Given the description of an element on the screen output the (x, y) to click on. 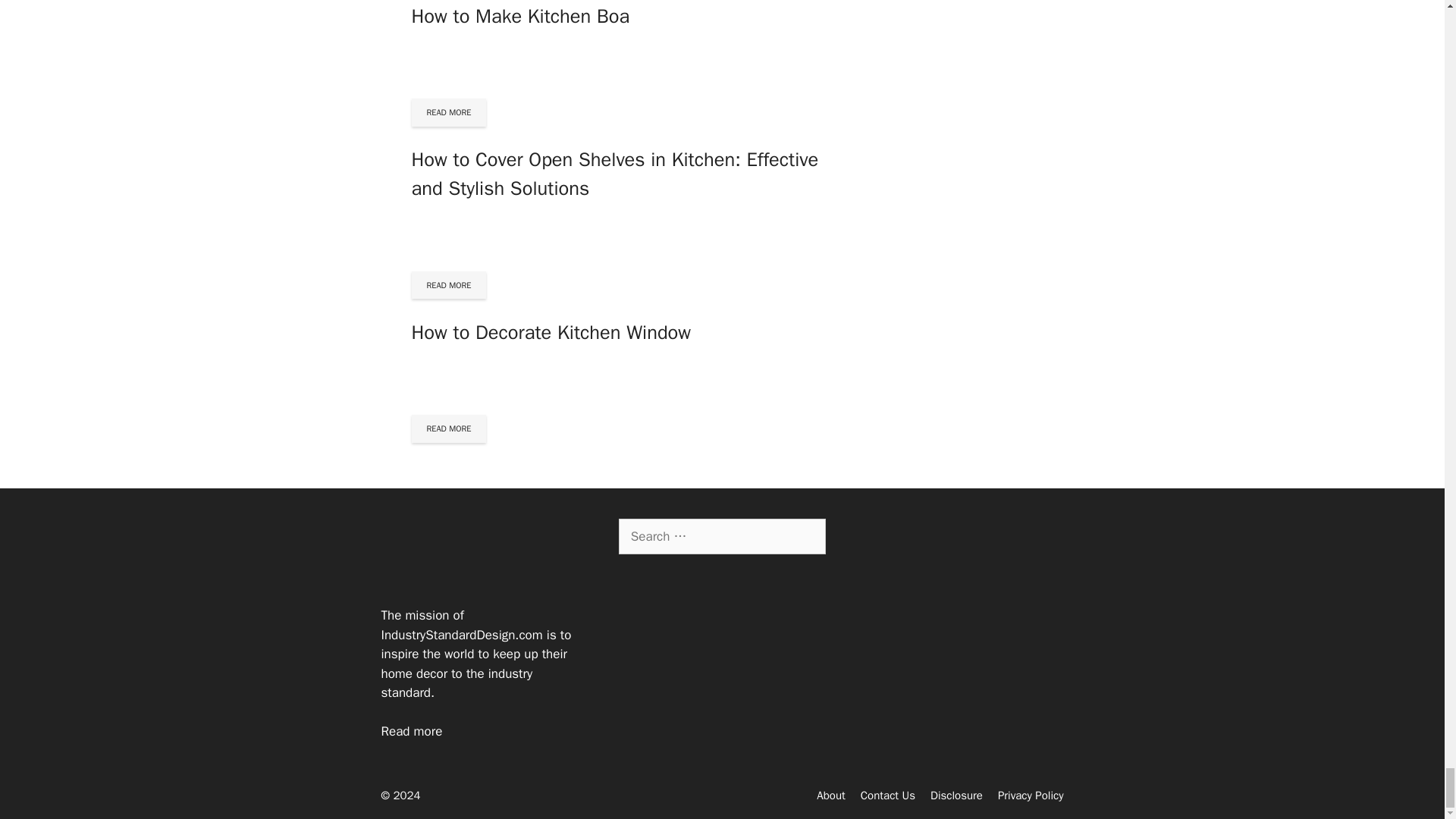
Search for: (721, 536)
How to Make Kitchen Boa (519, 16)
How to Decorate Kitchen Window (550, 332)
